Given the description of an element on the screen output the (x, y) to click on. 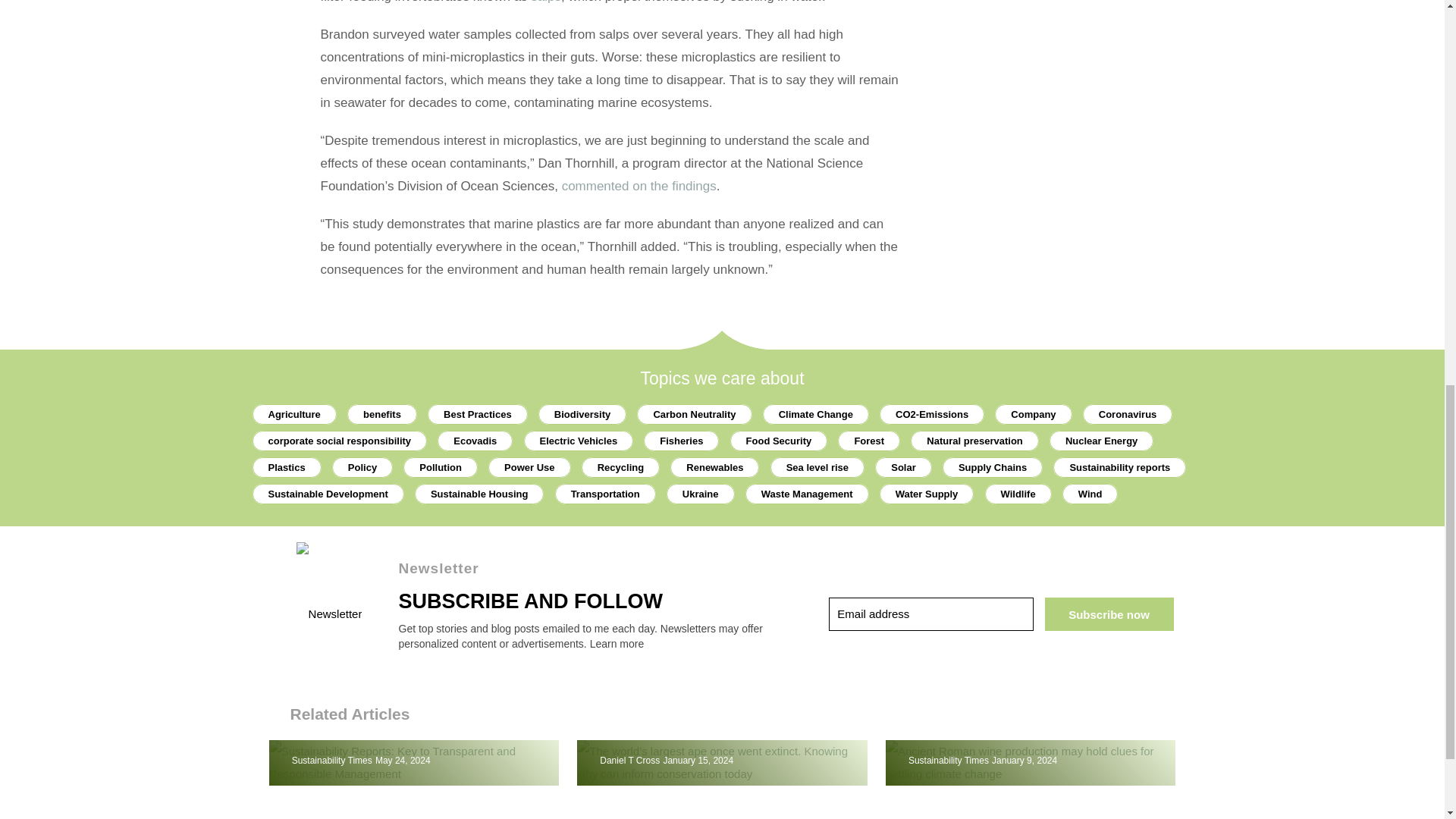
Subscribe now (1109, 613)
